Given the description of an element on the screen output the (x, y) to click on. 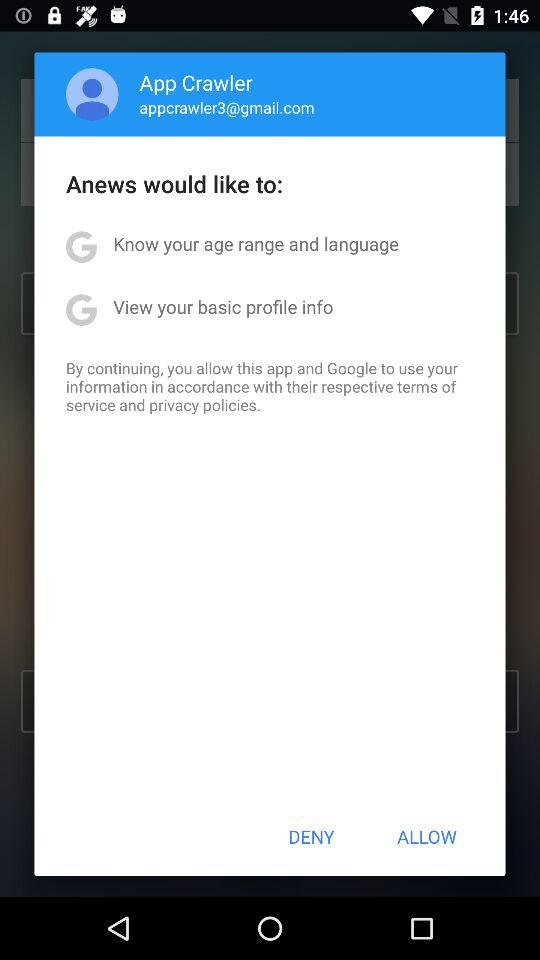
turn off the icon below app crawler item (226, 107)
